Given the description of an element on the screen output the (x, y) to click on. 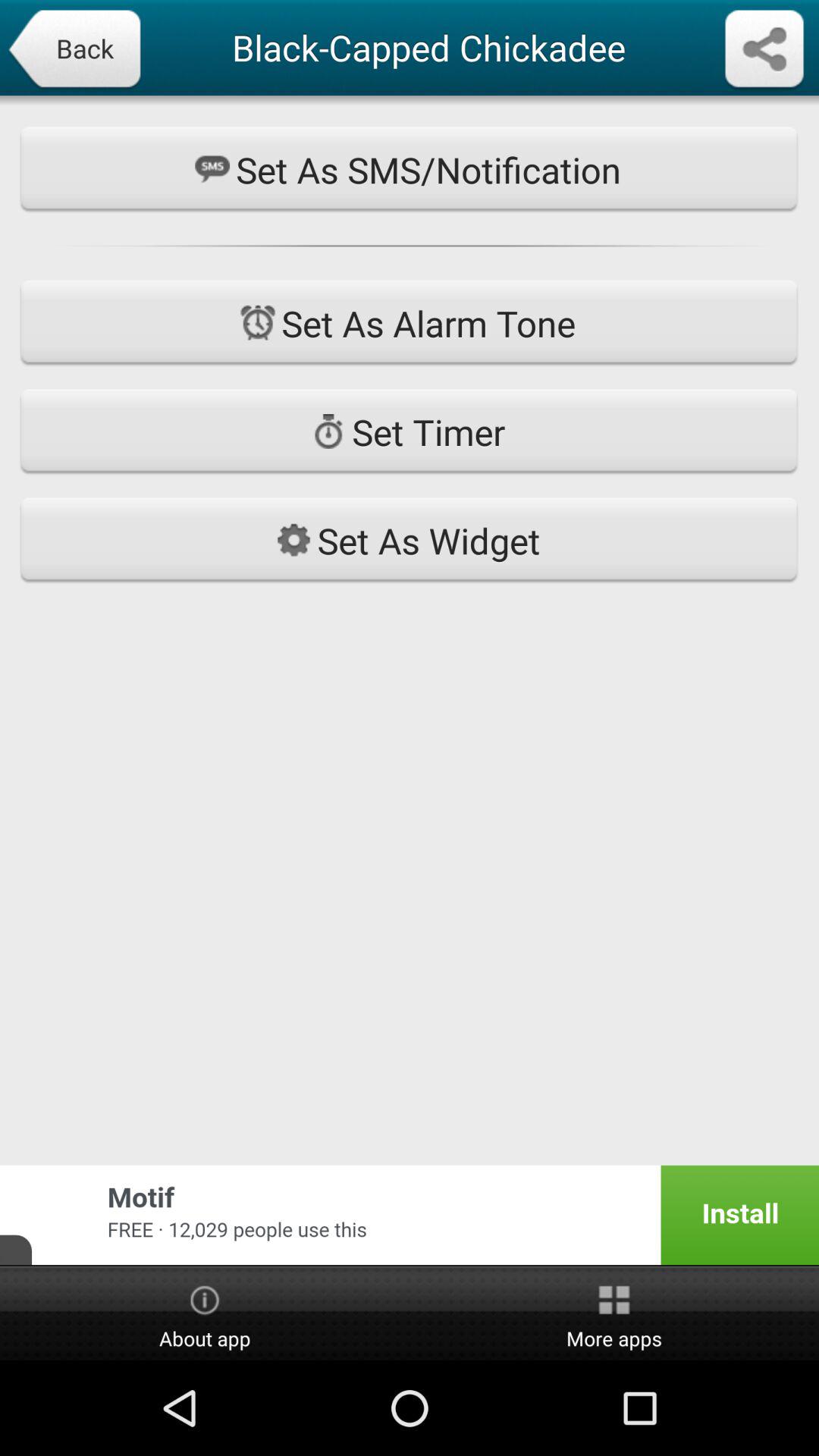
select icon above the about app item (409, 1214)
